Given the description of an element on the screen output the (x, y) to click on. 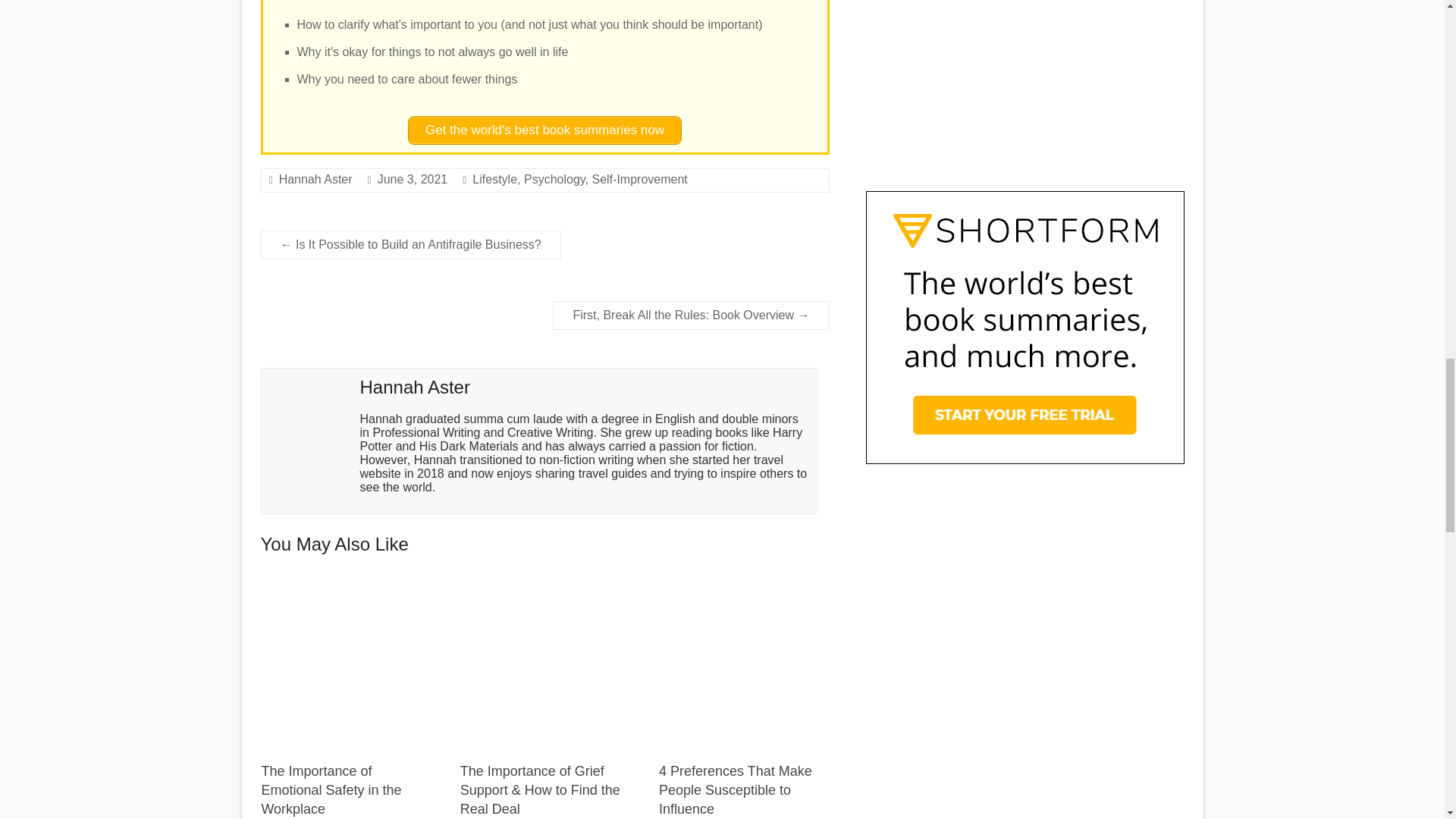
Hannah Aster (315, 178)
The Importance of Emotional Safety in the Workplace (330, 789)
Lifestyle (493, 178)
4 Preferences That Make People Susceptible to Influence (743, 585)
The Importance of Emotional Safety in the Workplace (345, 663)
4 Preferences That Make People Susceptible to Influence (735, 789)
Psychology (554, 178)
4 Preferences That Make People Susceptible to Influence (735, 789)
6:18 pm (412, 178)
The Importance of Emotional Safety in the Workplace (330, 789)
